Given the description of an element on the screen output the (x, y) to click on. 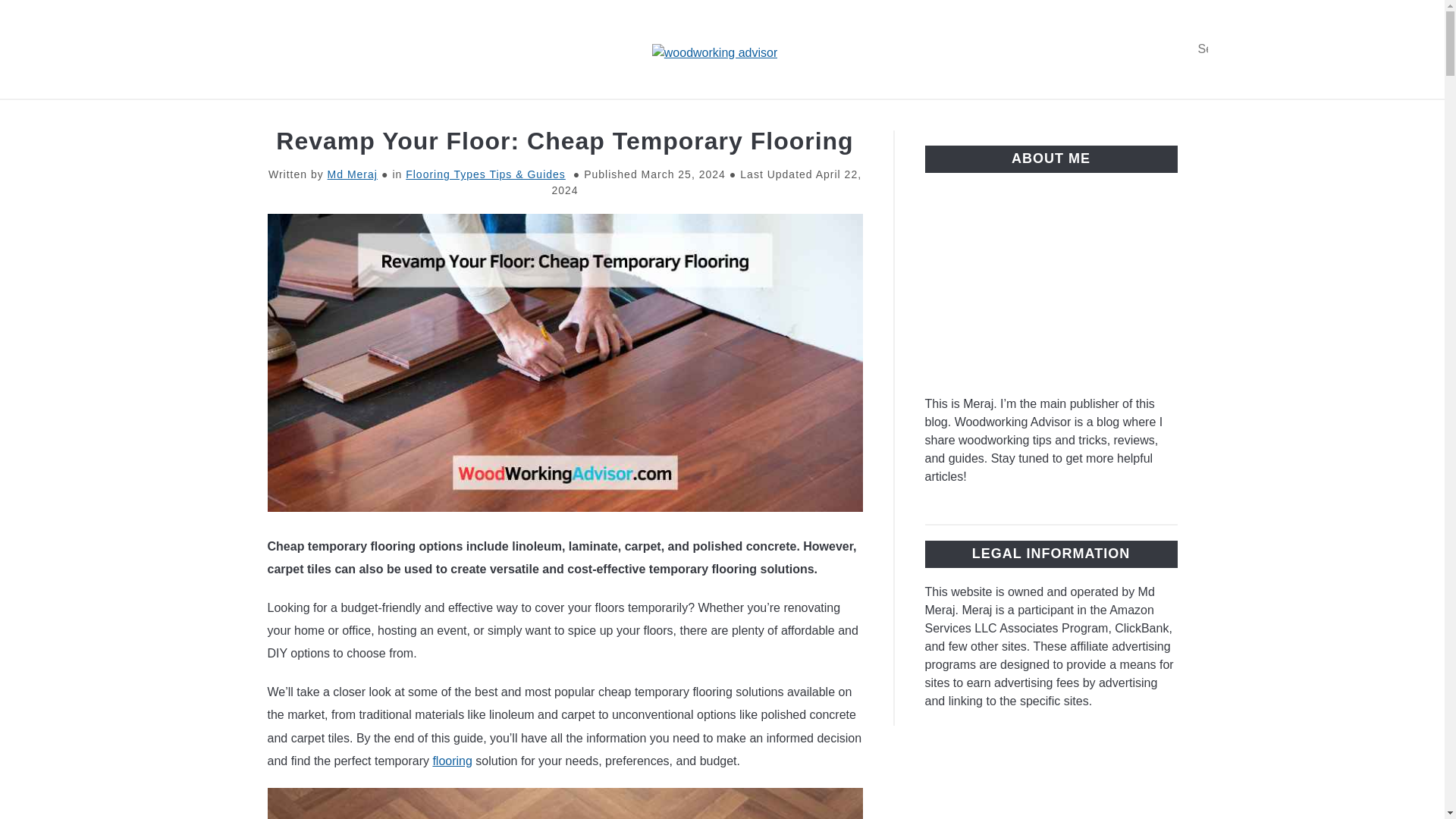
Search (1203, 49)
WOODWORKING SAWS (748, 117)
TYPES OF WOOD (328, 117)
CALCULATORS (907, 117)
WOODWORKING PROJECTS (1082, 117)
WOOD (616, 117)
WOODWORKING TIPS (491, 117)
